Given the description of an element on the screen output the (x, y) to click on. 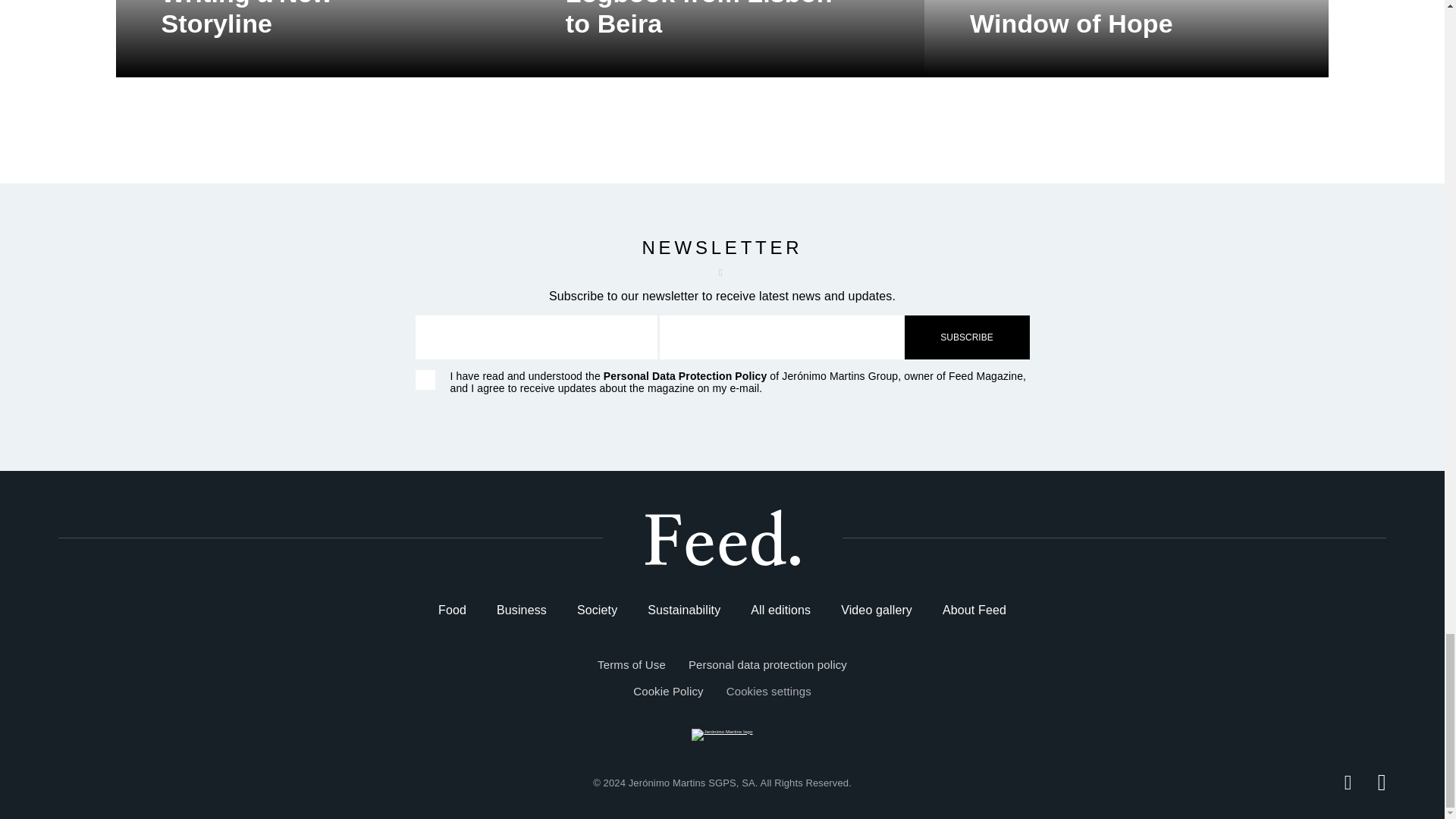
Window of Hope (1125, 38)
1 (424, 379)
Writing a New Storyline (317, 38)
Logbook from Lisbon to Beira (721, 38)
Subscribe (966, 337)
